Given the description of an element on the screen output the (x, y) to click on. 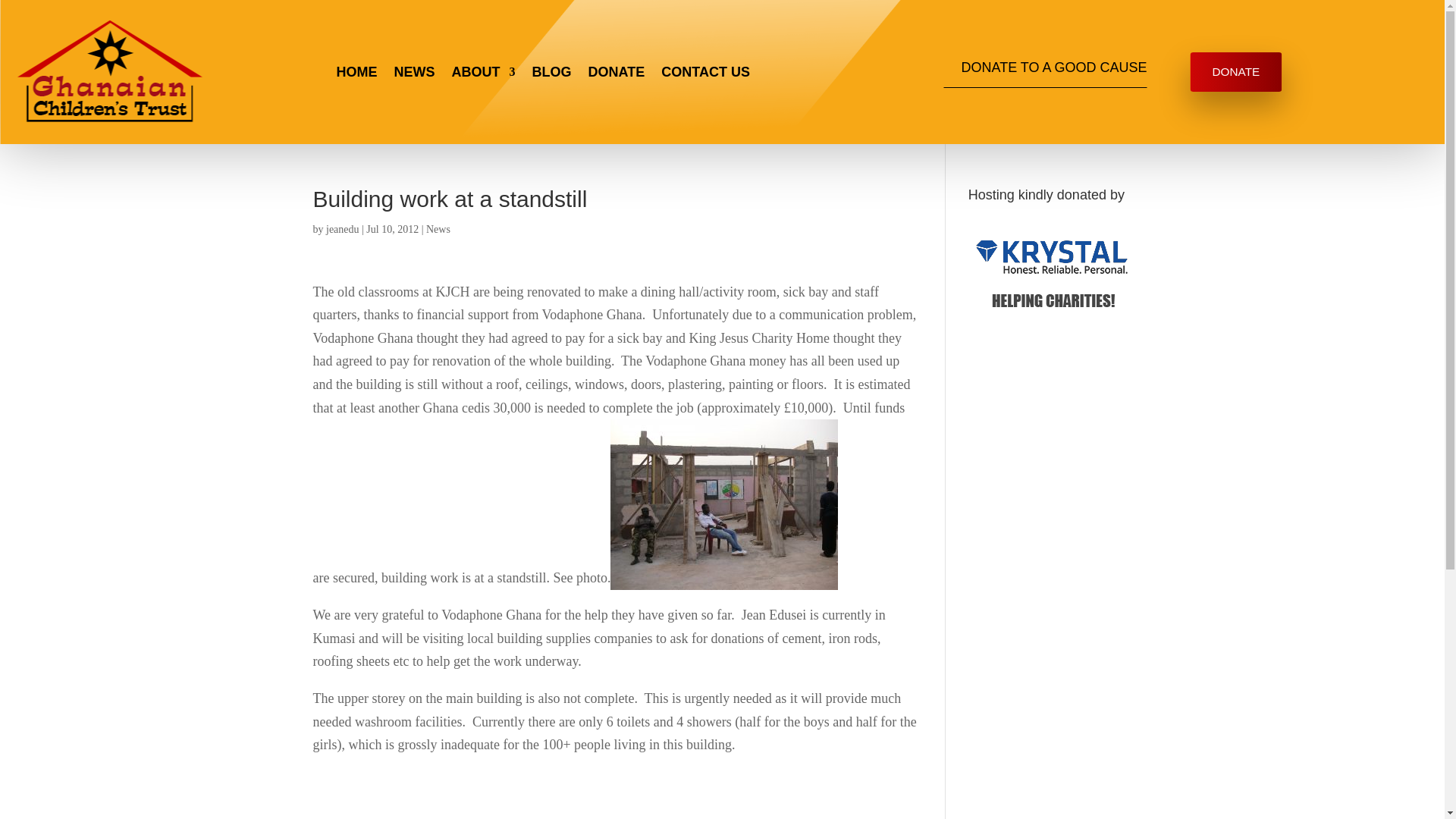
News (437, 229)
Building work at a standstill (724, 504)
Posts by jeanedu (342, 229)
DONATE (1236, 71)
jeanedu (342, 229)
